Given the description of an element on the screen output the (x, y) to click on. 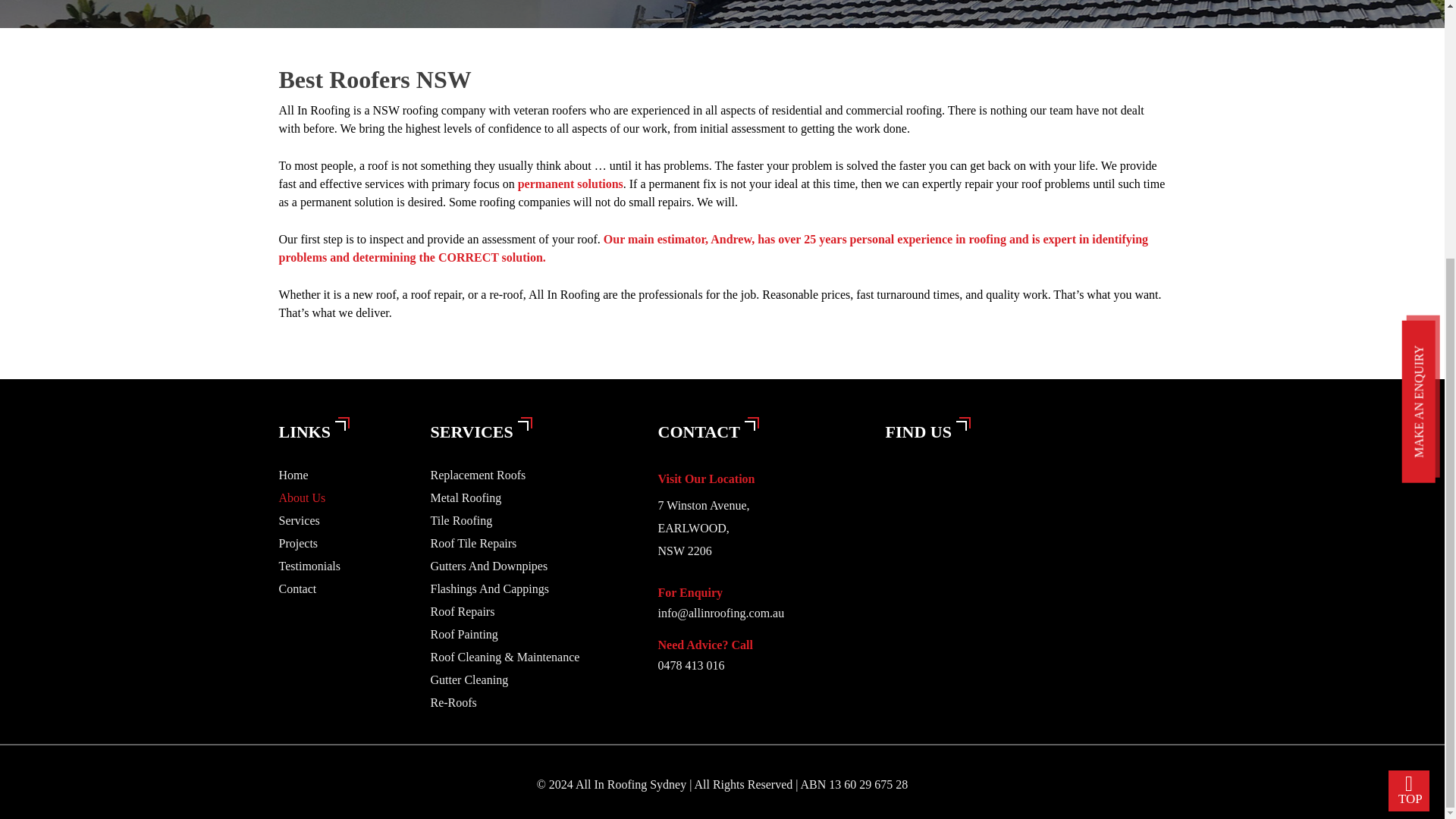
Metal Roofing (466, 498)
About Us (302, 498)
Replacement Roofs (477, 475)
Tile Roofing (461, 520)
Roof Repairs (462, 611)
Roof Tile Repairs (473, 543)
Gutters And Downpipes (489, 566)
Flashings And Cappings (489, 589)
Projects (298, 543)
Testimonials (309, 566)
Re-Roofs (453, 702)
Services (299, 520)
Gutter Cleaning (469, 679)
Contact (298, 589)
0478 413 016 (760, 665)
